Given the description of an element on the screen output the (x, y) to click on. 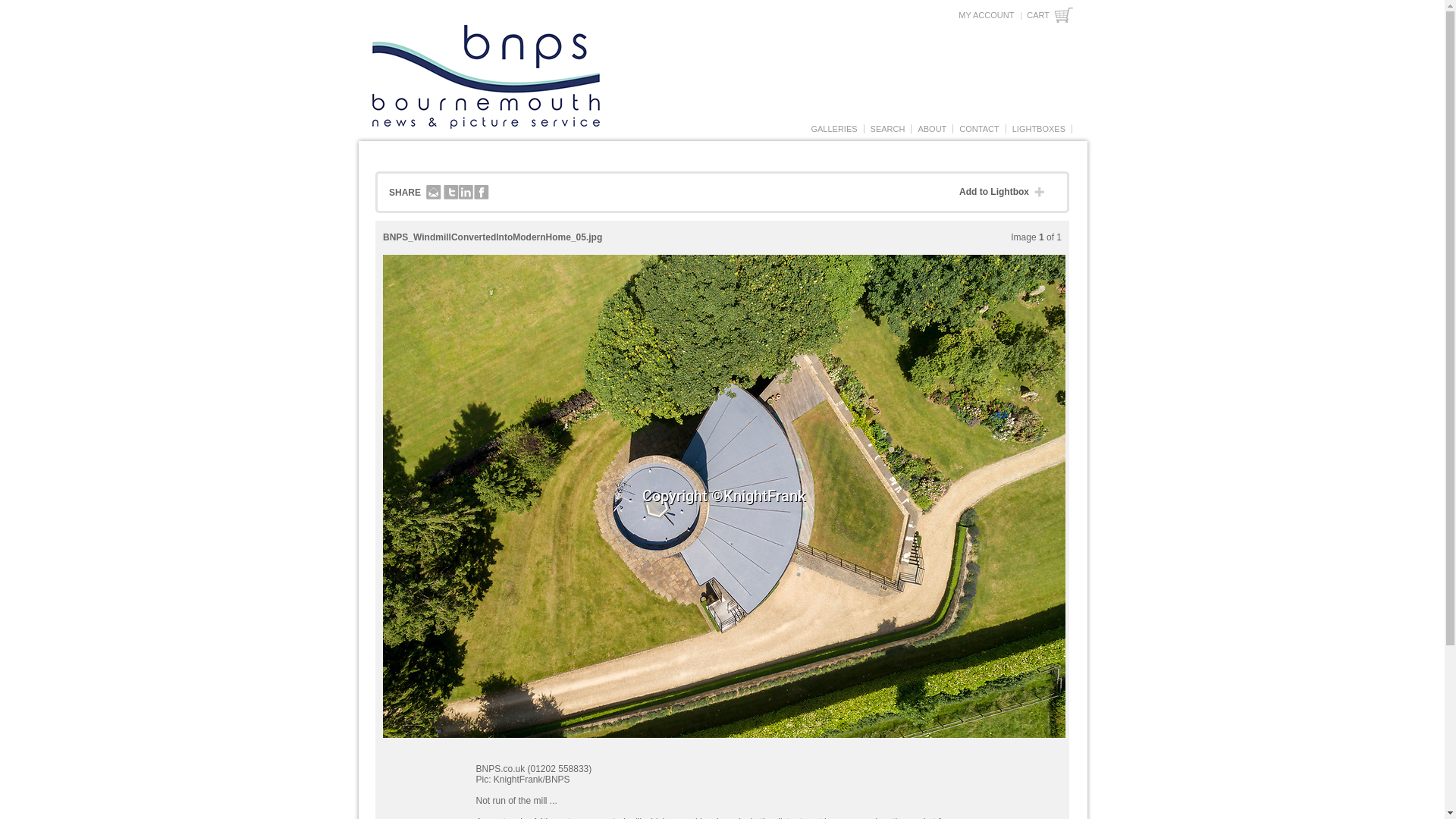
Cart (1049, 14)
Search (887, 128)
Email to a Friend (433, 192)
Add to Lightbox (1005, 192)
SEARCH (887, 128)
LIGHTBOXES (1038, 128)
Lightbox (1038, 128)
ABOUT (932, 128)
MY ACCOUNT (986, 15)
GALLERIES (833, 128)
CONTACT (979, 128)
Contact (979, 128)
About (932, 128)
Galleries (833, 128)
My Account (986, 15)
